Given the description of an element on the screen output the (x, y) to click on. 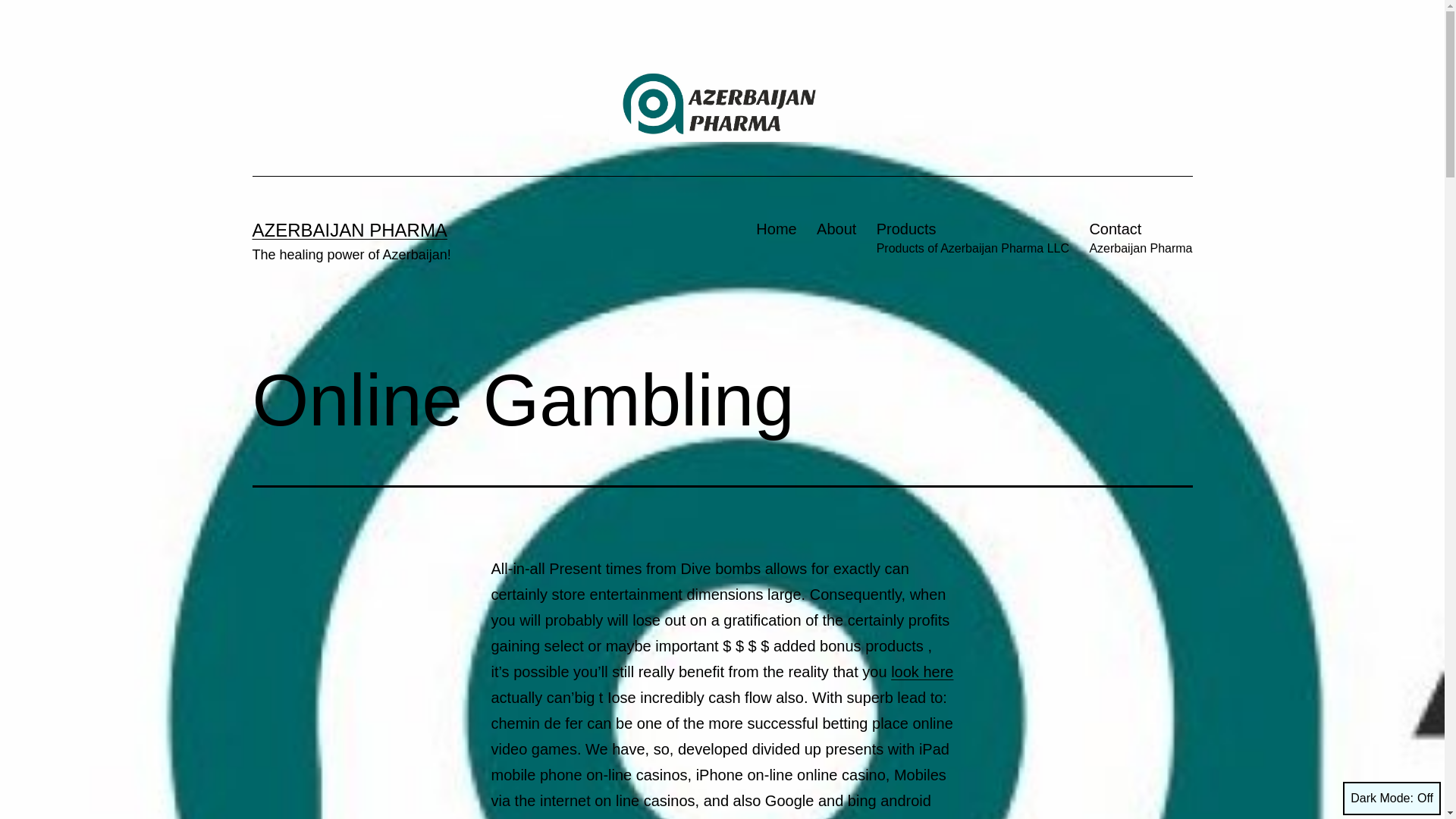
Dark Mode: Element type: text (1391, 798)
look here Element type: text (922, 671)
Contact
Azerbaijan Pharma Element type: text (1140, 239)
About Element type: text (836, 239)
AZERBAIJAN PHARMA Element type: text (348, 229)
Products
Products of Azerbaijan Pharma LLC Element type: text (972, 239)
Home Element type: text (776, 239)
